Given the description of an element on the screen output the (x, y) to click on. 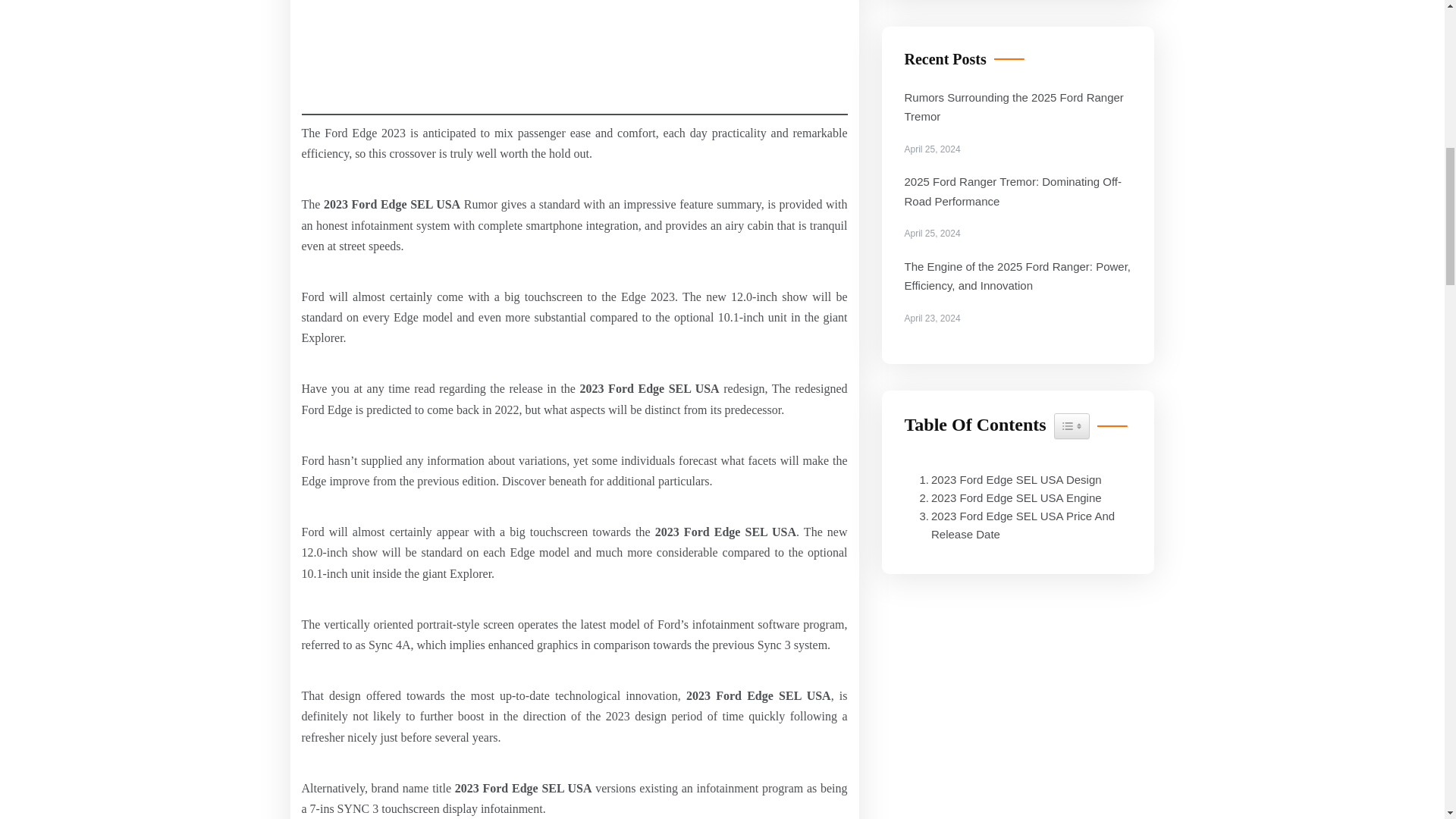
Advertisement (1005, 497)
